Given the description of an element on the screen output the (x, y) to click on. 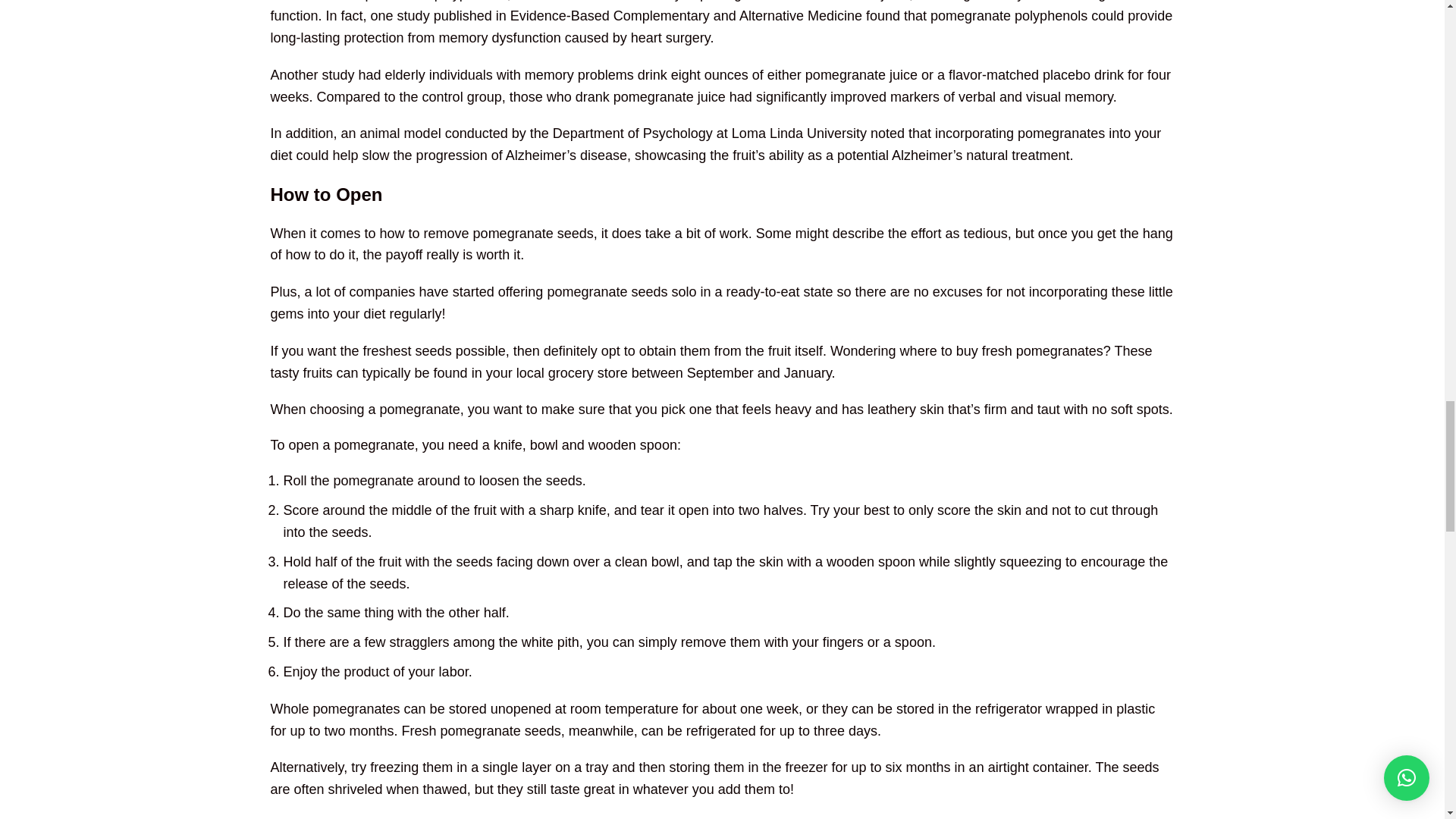
improved (857, 96)
provide (1149, 15)
noted (887, 133)
enhance cognitive function (703, 11)
